Given the description of an element on the screen output the (x, y) to click on. 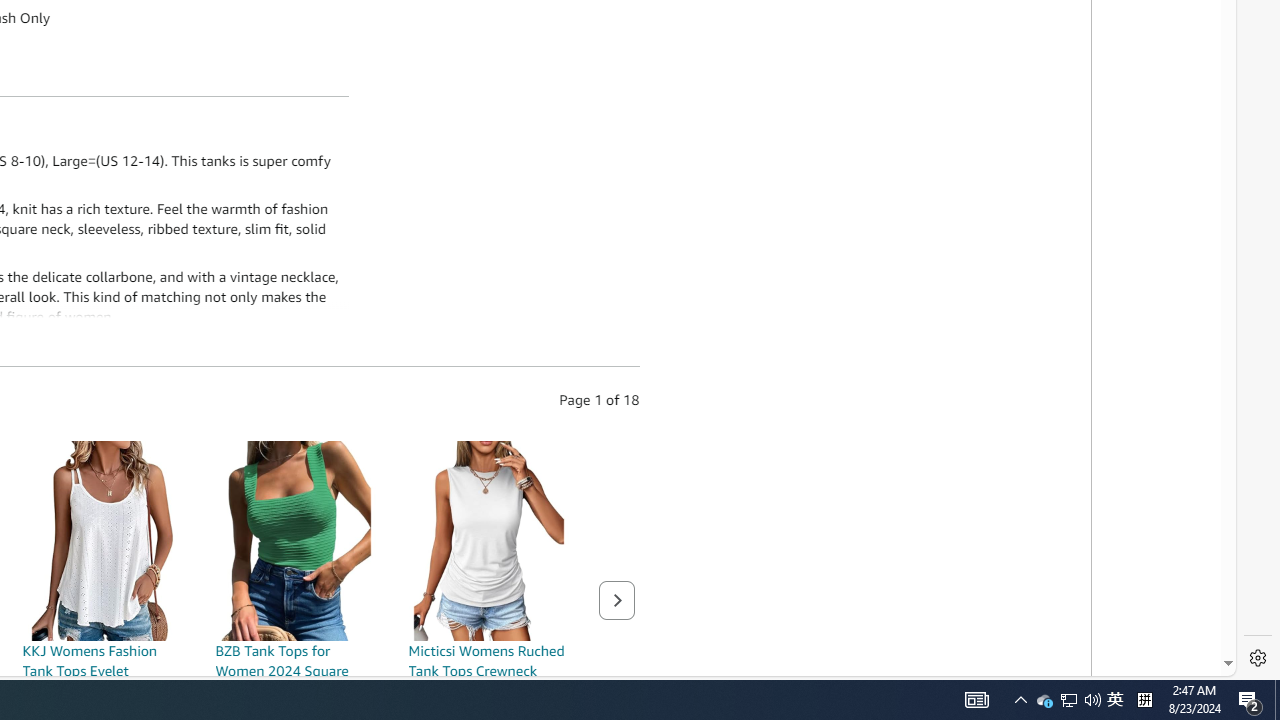
Next page of related Sponsored Products (615, 600)
